Given the description of an element on the screen output the (x, y) to click on. 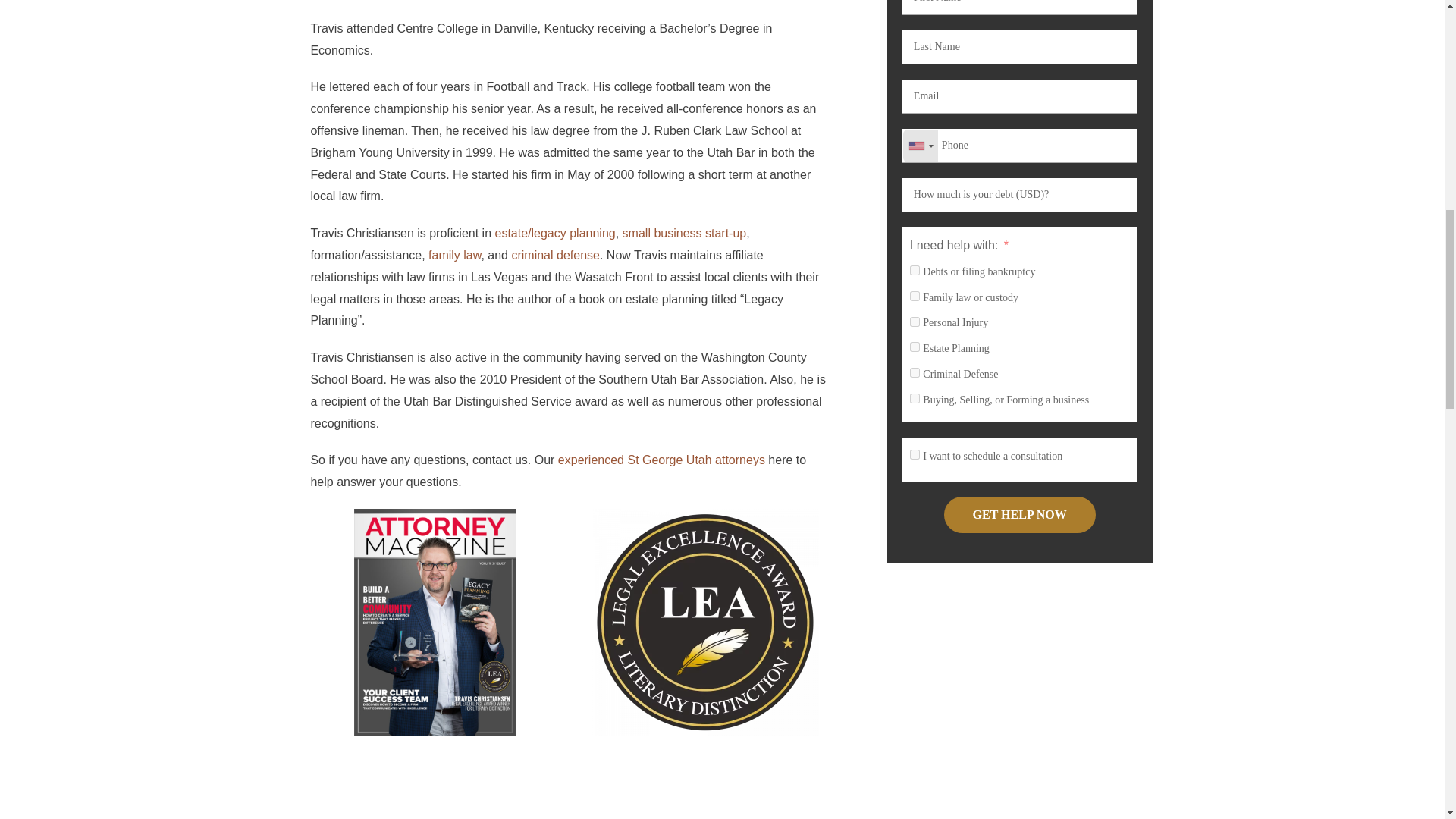
Family law or custody (915, 296)
I want to schedule a consultation (915, 454)
Criminal Defense (915, 372)
Buying, Selling, or Forming a business (915, 398)
legal excellence award (704, 622)
Estate Planning (915, 347)
Debts or filing bankruptcy (915, 270)
Personal Injury (915, 321)
